Given the description of an element on the screen output the (x, y) to click on. 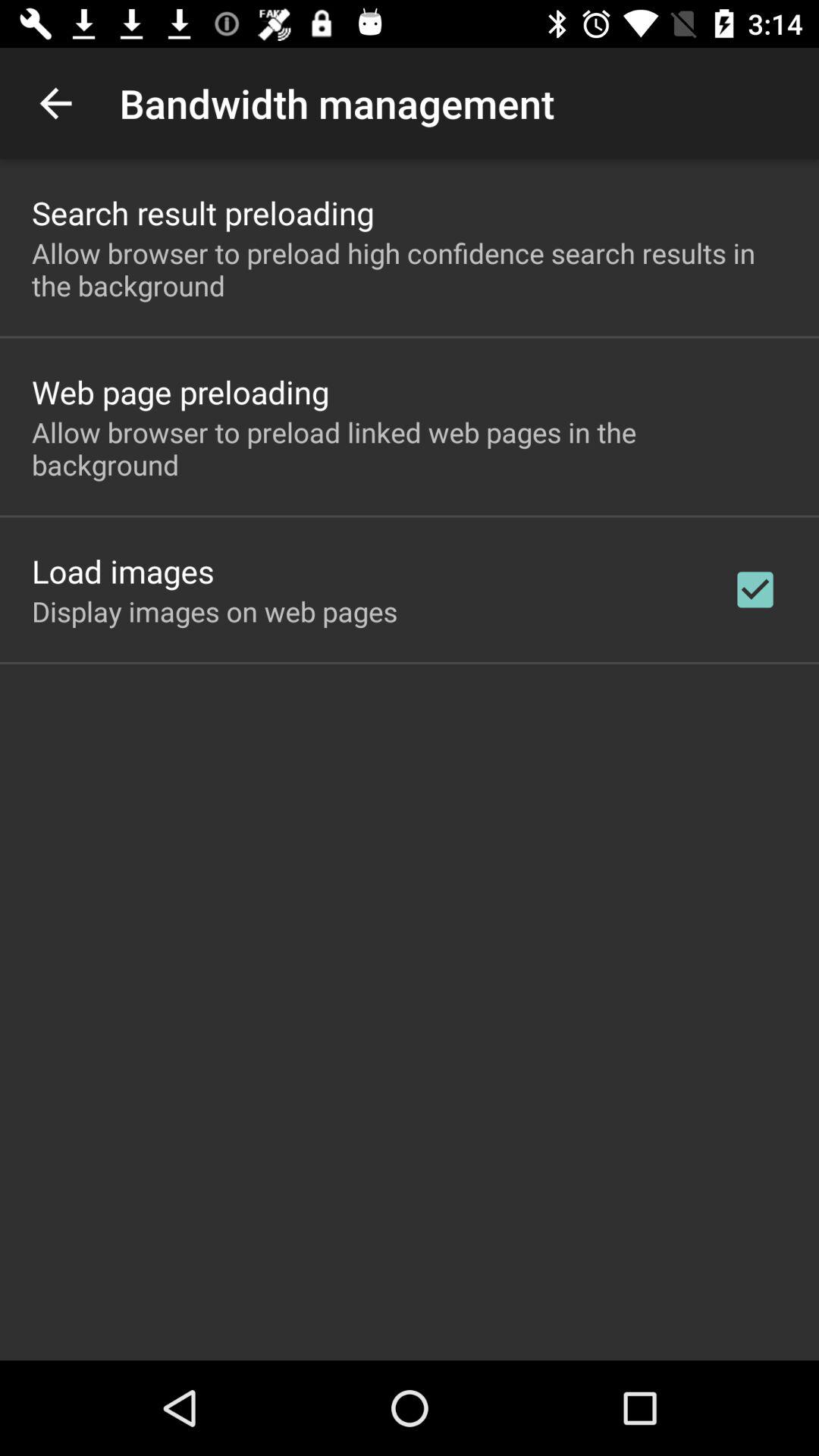
swipe to display images on icon (214, 611)
